Given the description of an element on the screen output the (x, y) to click on. 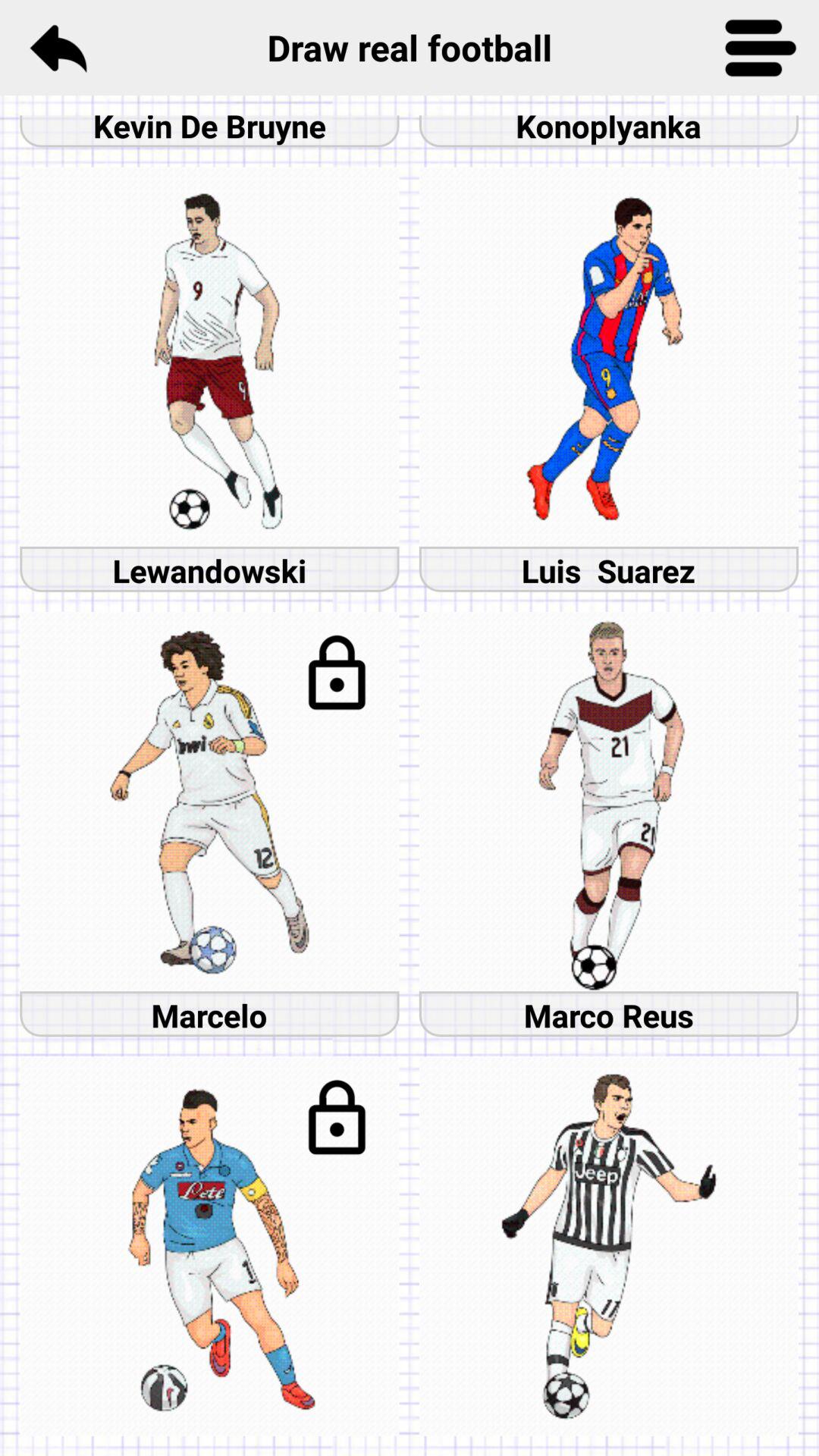
go back to the previous page (58, 47)
